Given the description of an element on the screen output the (x, y) to click on. 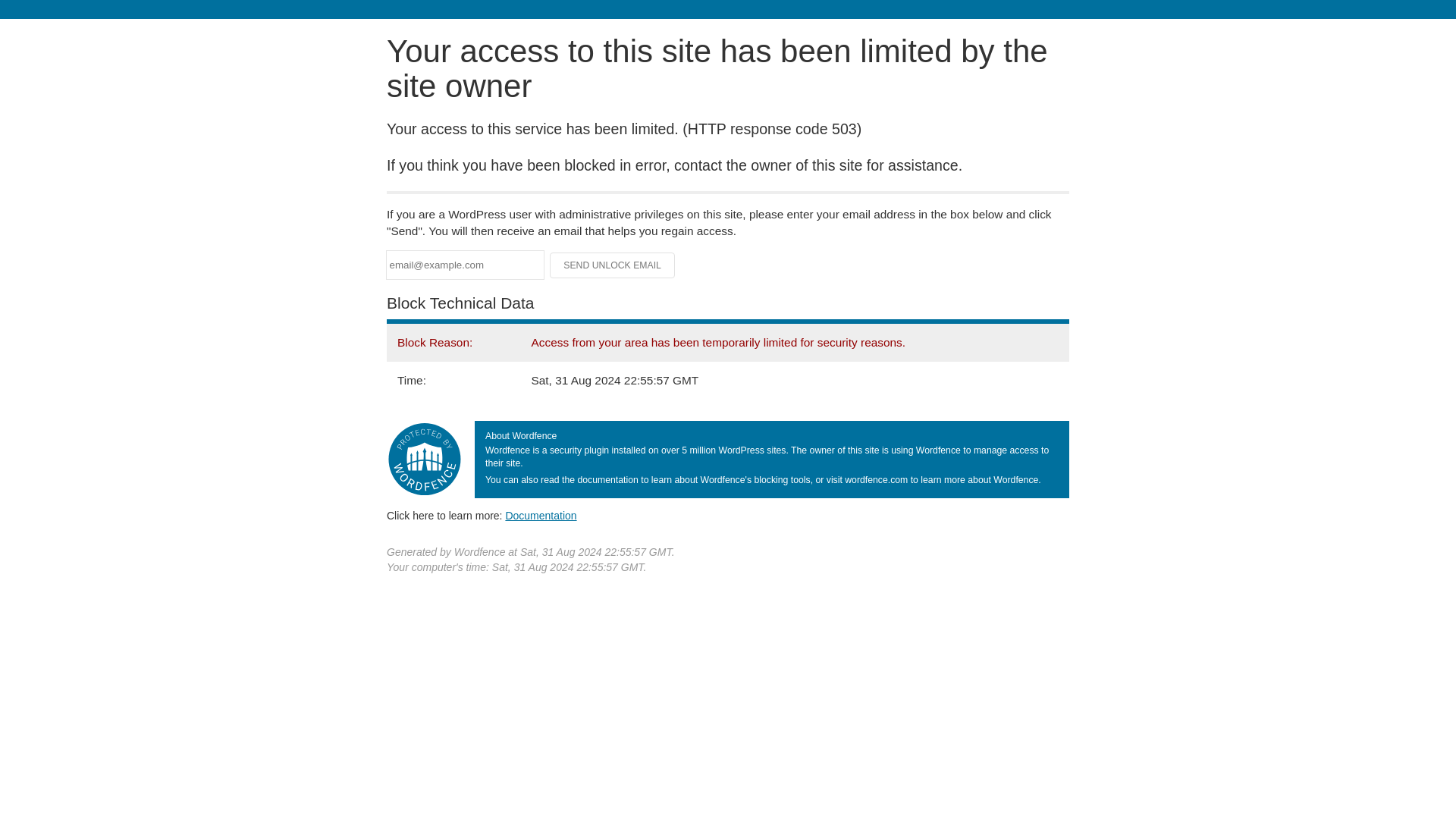
Send Unlock Email (612, 265)
Send Unlock Email (612, 265)
Documentation (540, 515)
